Given the description of an element on the screen output the (x, y) to click on. 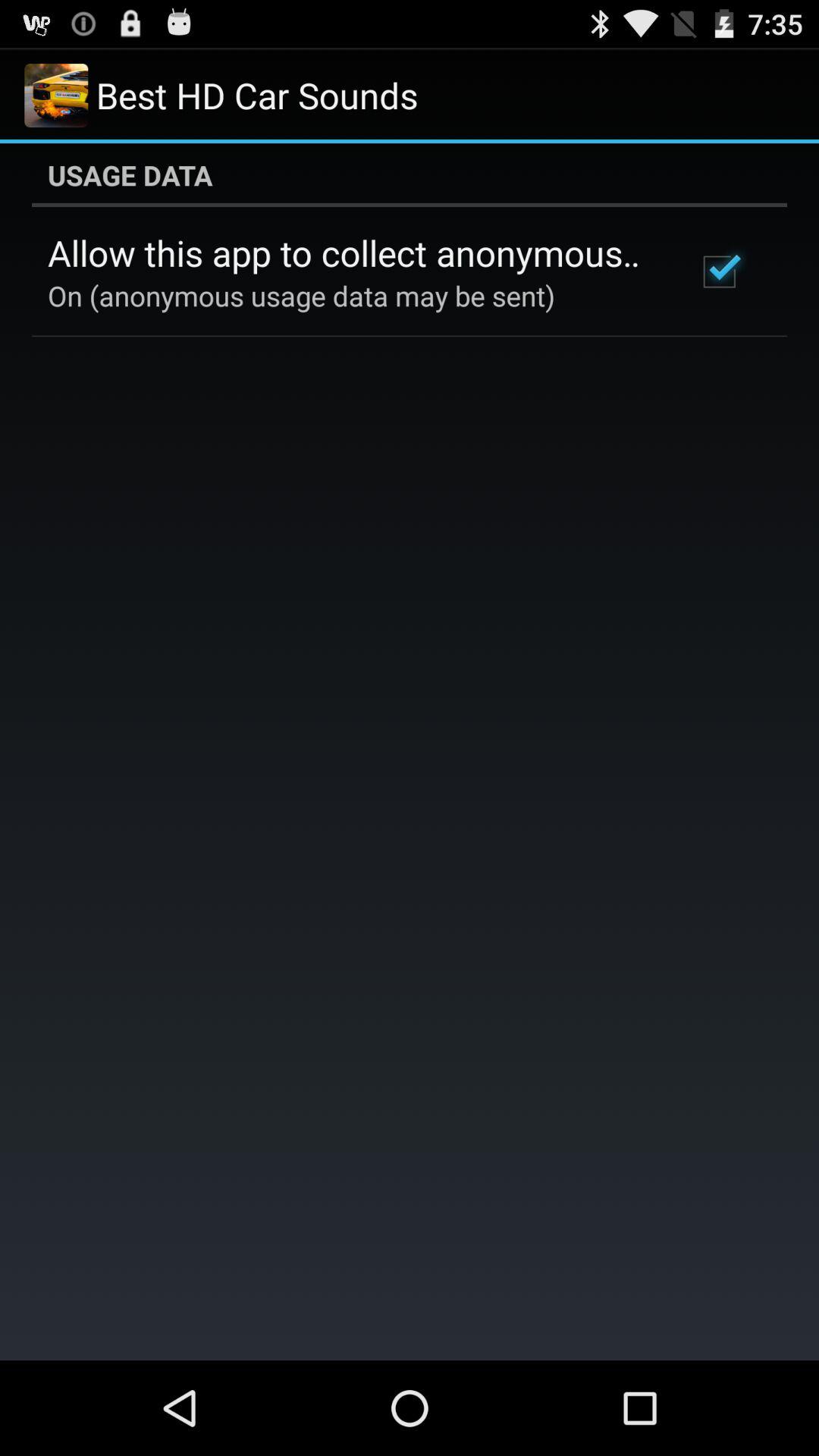
scroll until allow this app icon (351, 252)
